Given the description of an element on the screen output the (x, y) to click on. 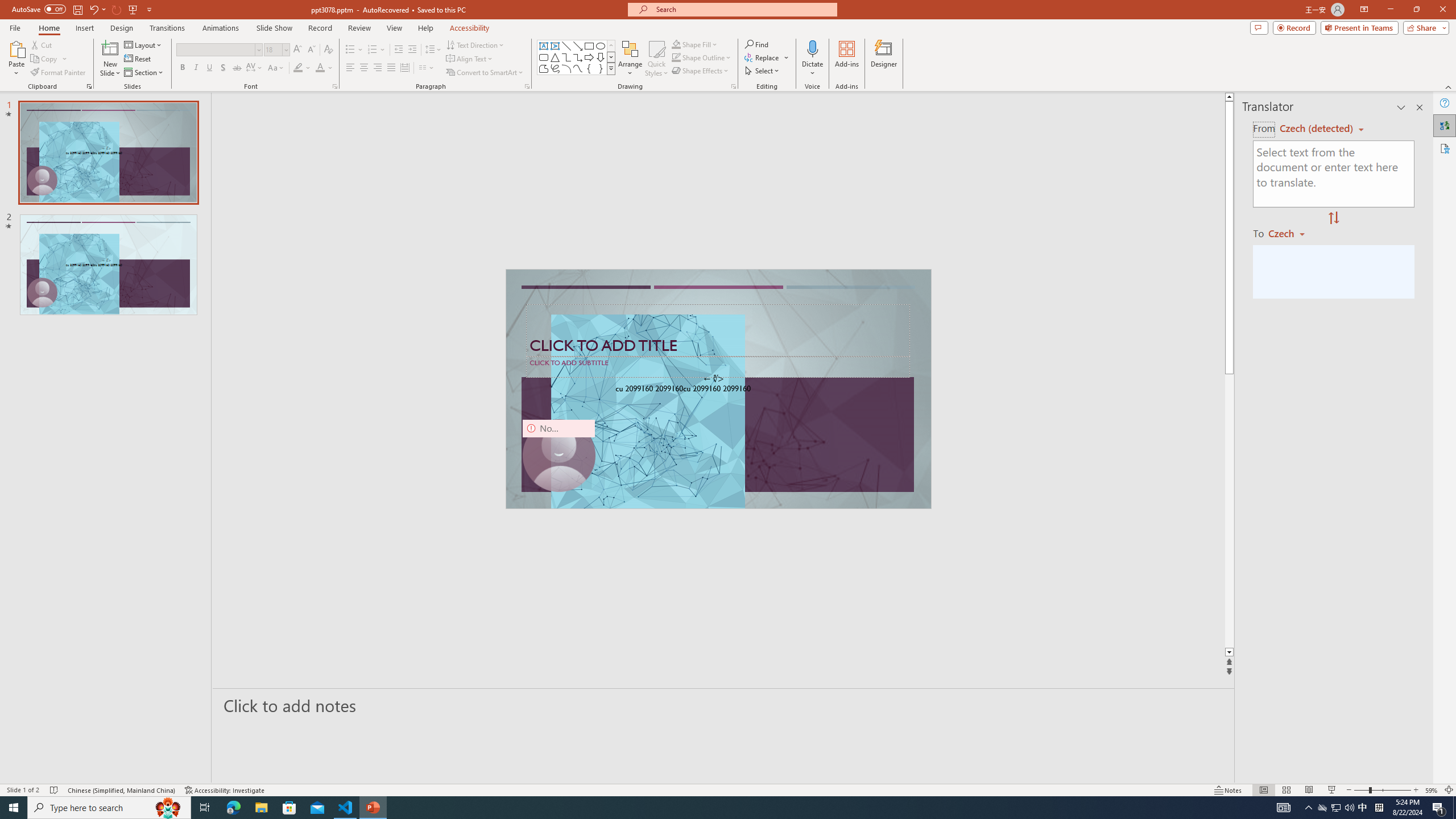
Italic (195, 67)
An abstract genetic concept (718, 388)
